Given the description of an element on the screen output the (x, y) to click on. 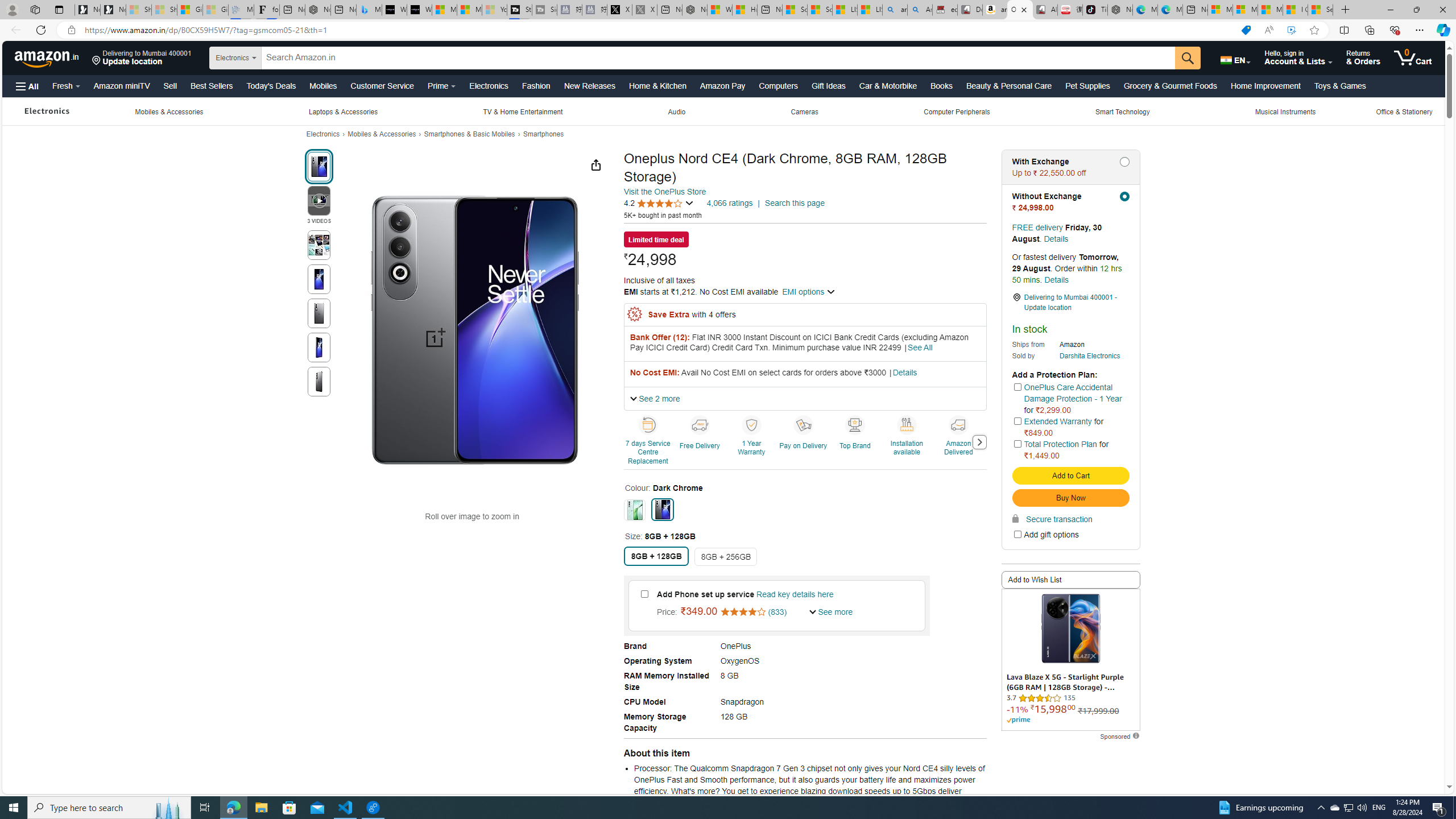
amazon - Search (894, 9)
App bar (728, 29)
X - Sleeping (644, 9)
Nordace - My Account (694, 9)
Electronics (322, 134)
New Releases (588, 85)
Shopping in Microsoft Edge (1245, 29)
Amazon.in (47, 57)
Beauty & Personal Care (1008, 85)
Pay on Delivery (803, 424)
